Given the description of an element on the screen output the (x, y) to click on. 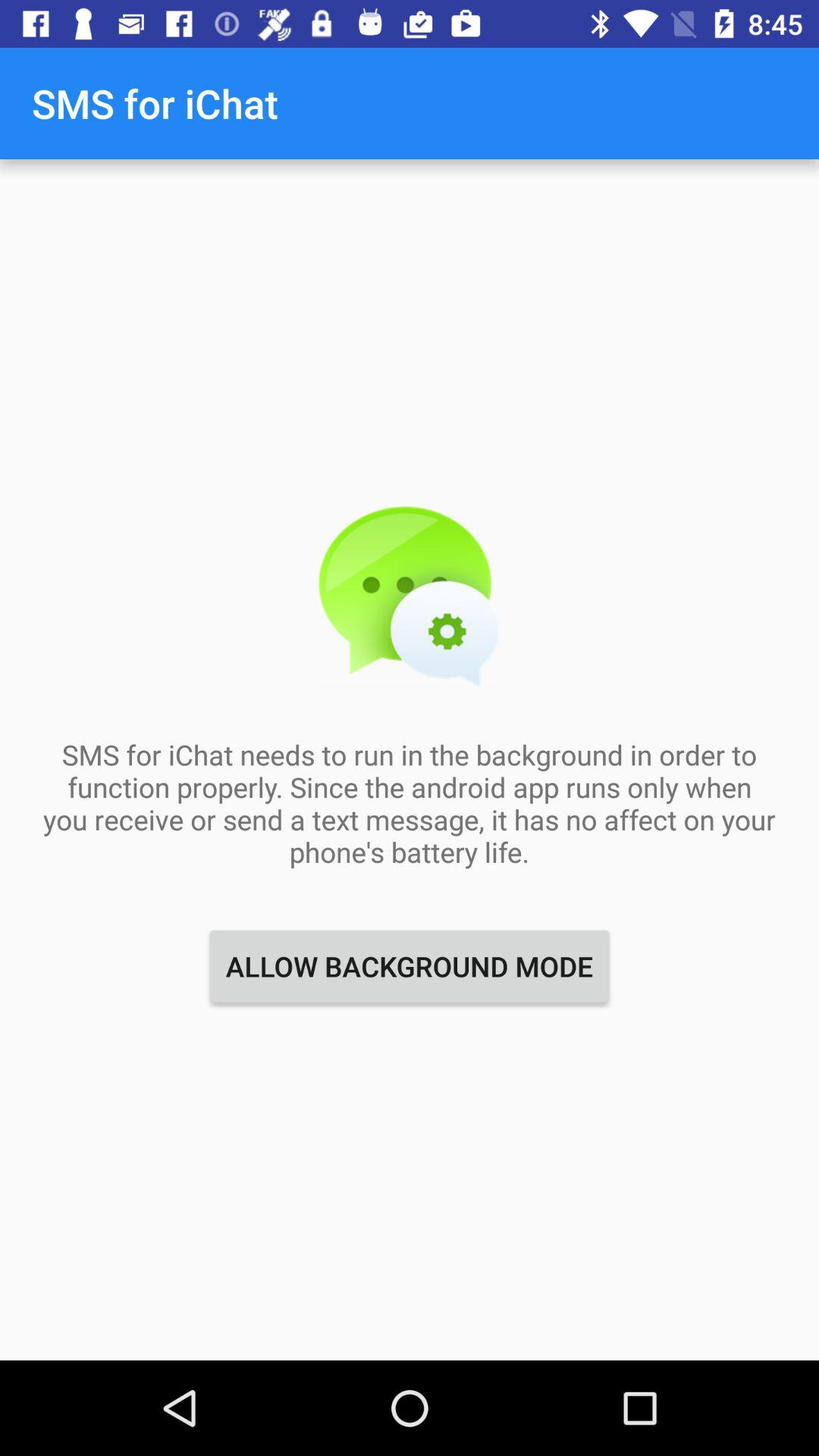
flip to allow background mode (409, 966)
